Given the description of an element on the screen output the (x, y) to click on. 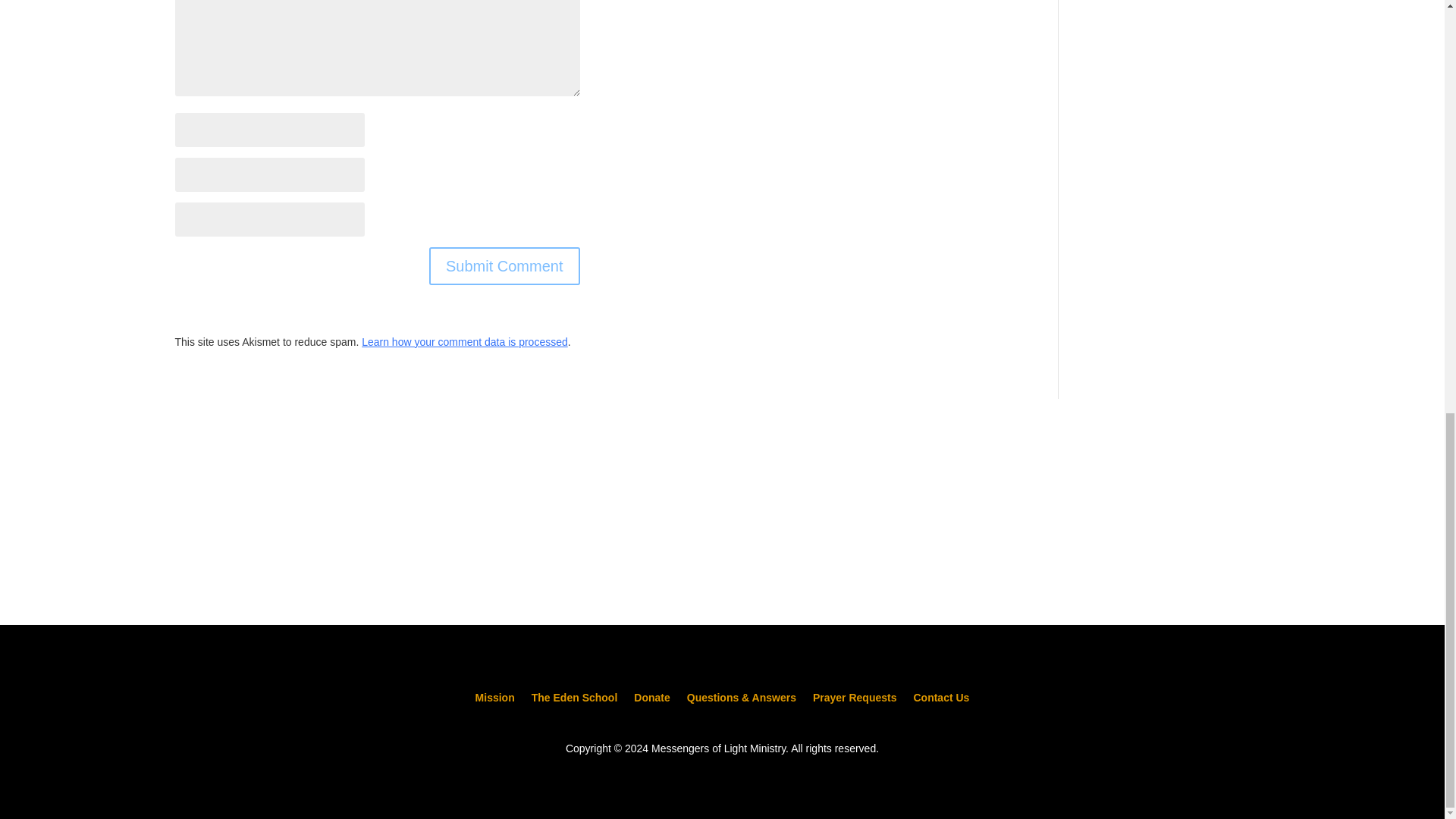
Submit Comment (504, 266)
